Given the description of an element on the screen output the (x, y) to click on. 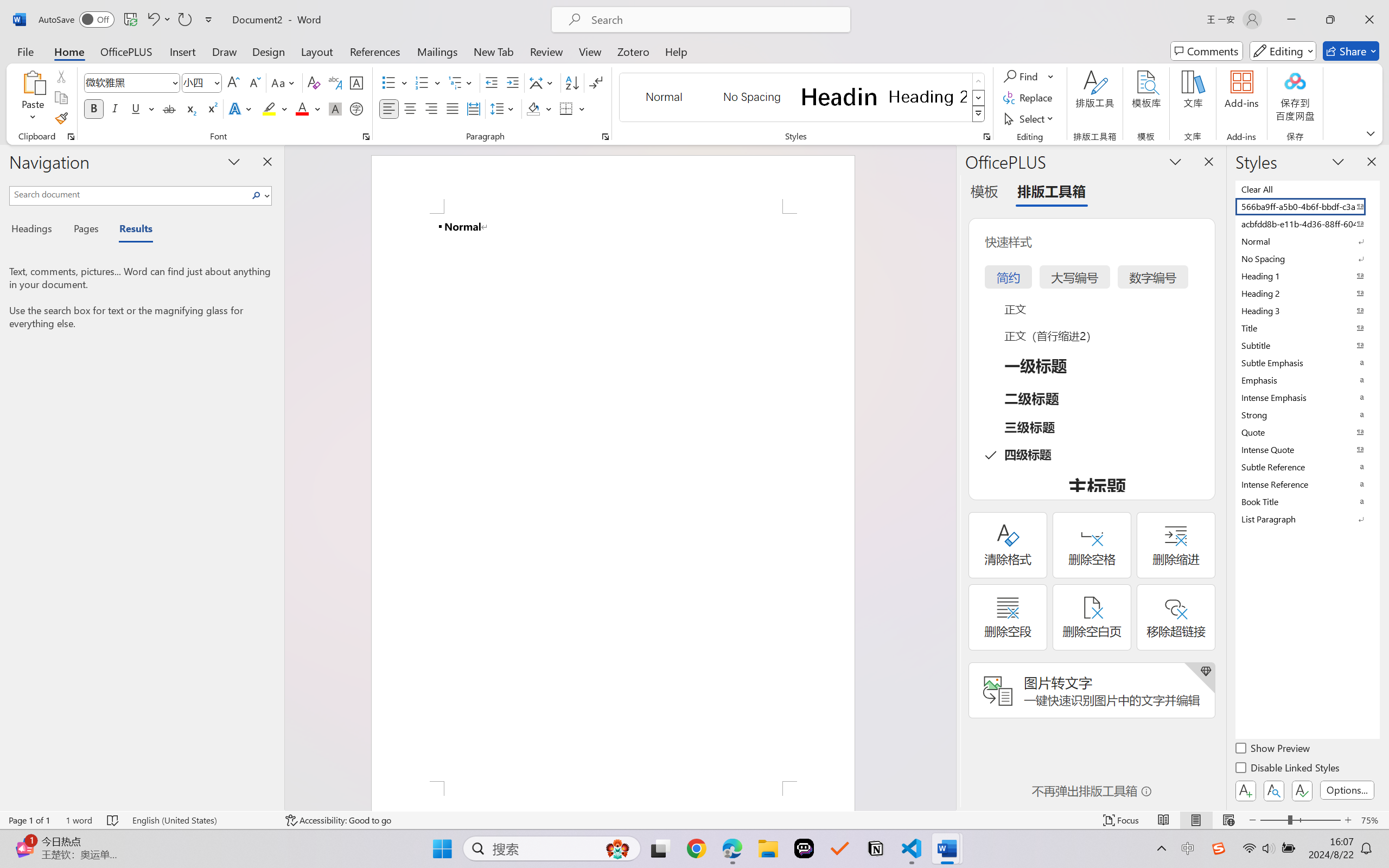
Zoom Out (1273, 819)
Phonetic Guide... (334, 82)
Ribbon Display Options (1370, 132)
Close (1369, 19)
Mode (1283, 50)
Format Painter (60, 118)
Justify (452, 108)
More Options (1051, 75)
Search (259, 195)
Undo Text Fill Effect (152, 19)
Enclose Characters... (356, 108)
